Given the description of an element on the screen output the (x, y) to click on. 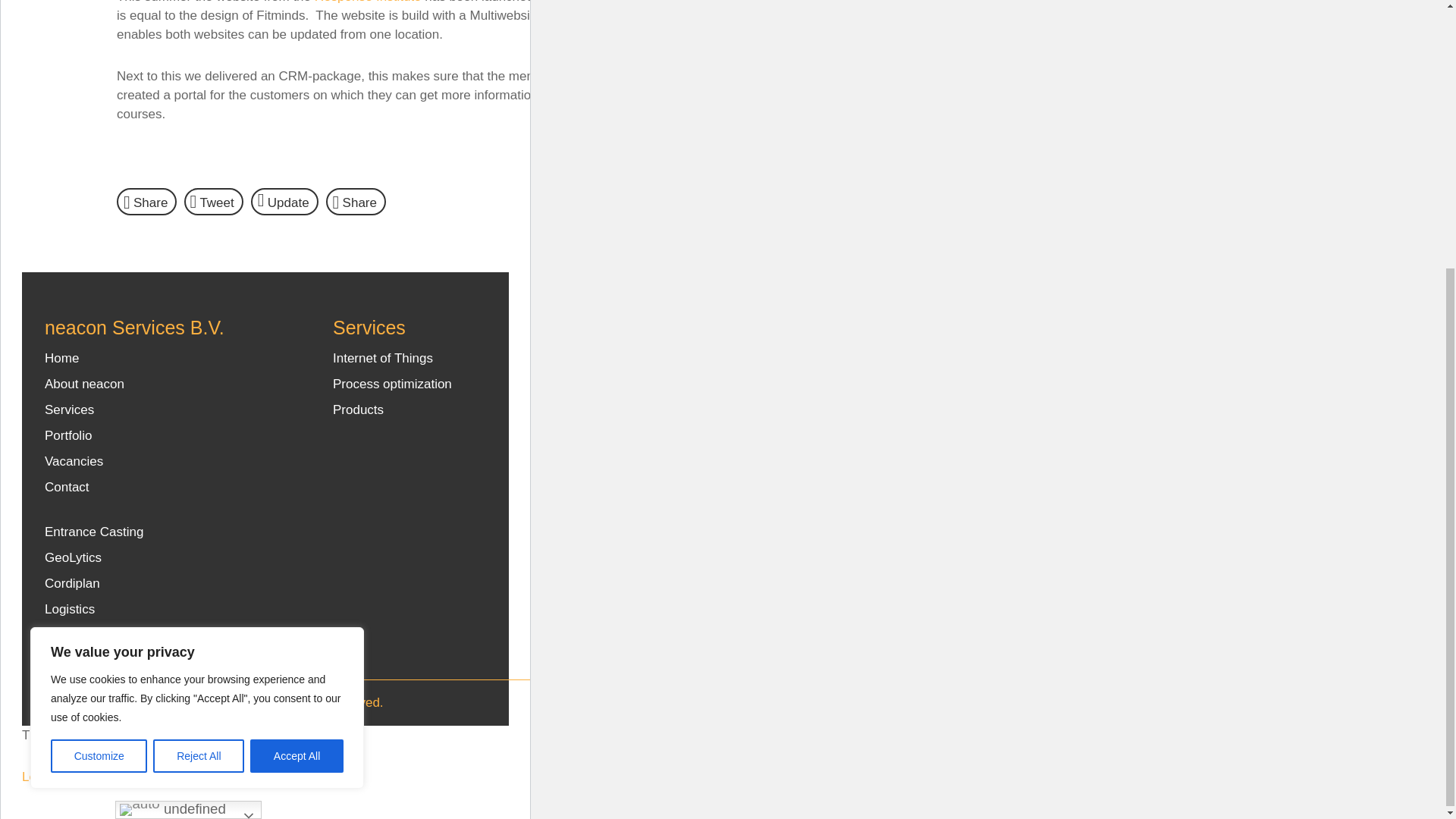
Customize (98, 363)
Accept All (296, 363)
Reject All (198, 363)
